Given the description of an element on the screen output the (x, y) to click on. 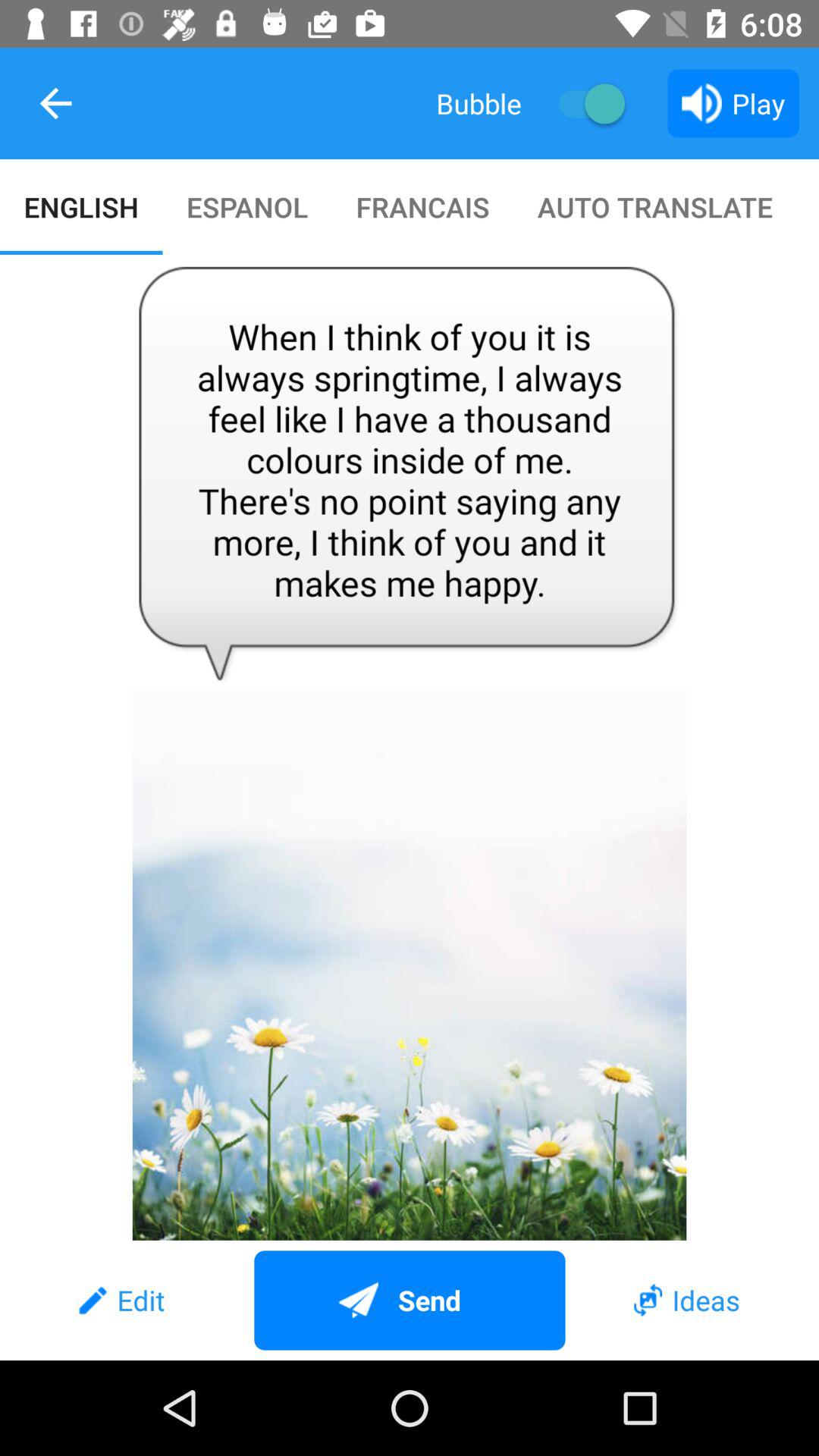
add to bubble (584, 103)
